Given the description of an element on the screen output the (x, y) to click on. 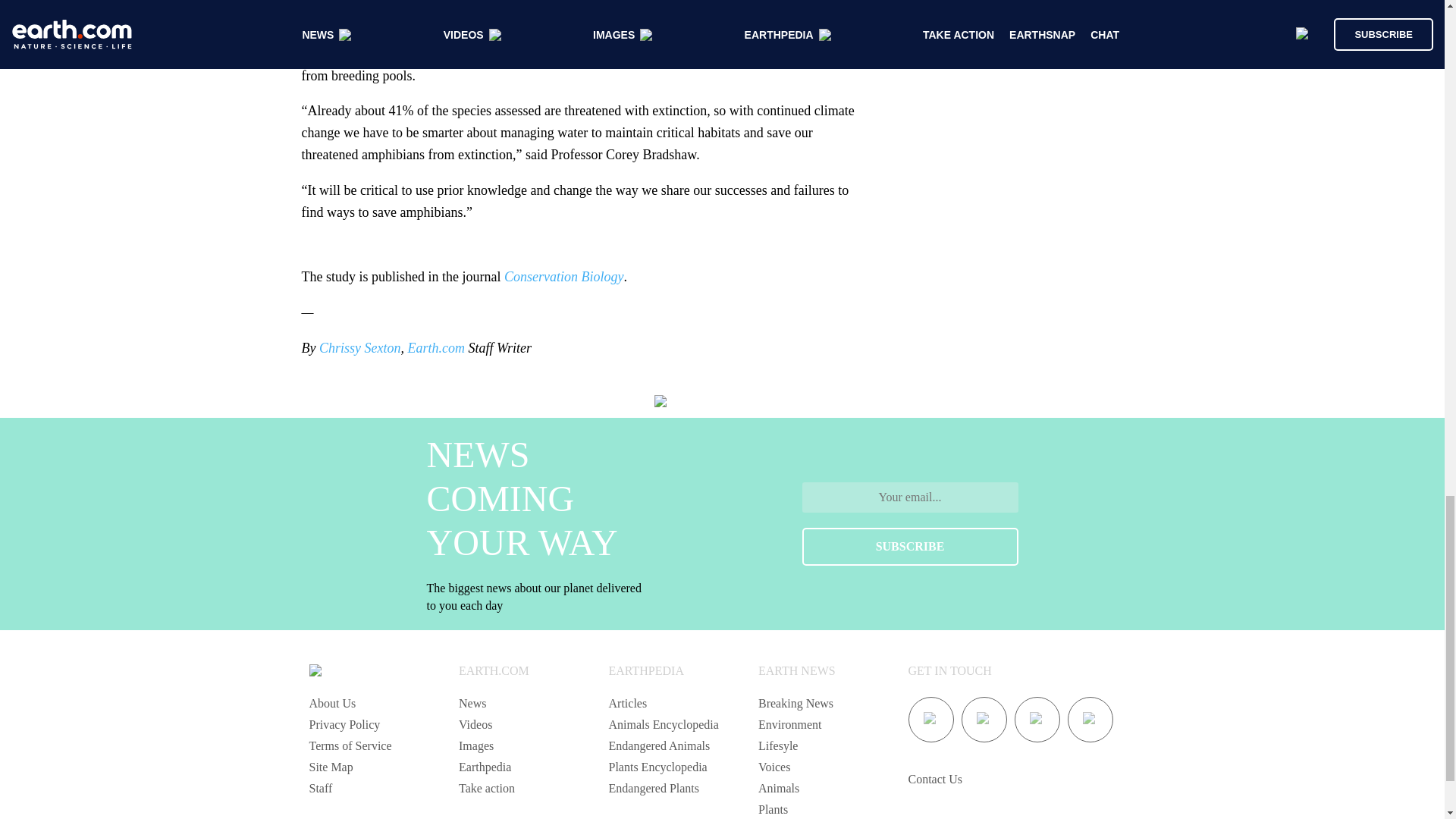
Conservation Biology (563, 276)
SUBSCRIBE (909, 546)
Earth.com (435, 347)
Chrissy Sexton (359, 347)
